Given the description of an element on the screen output the (x, y) to click on. 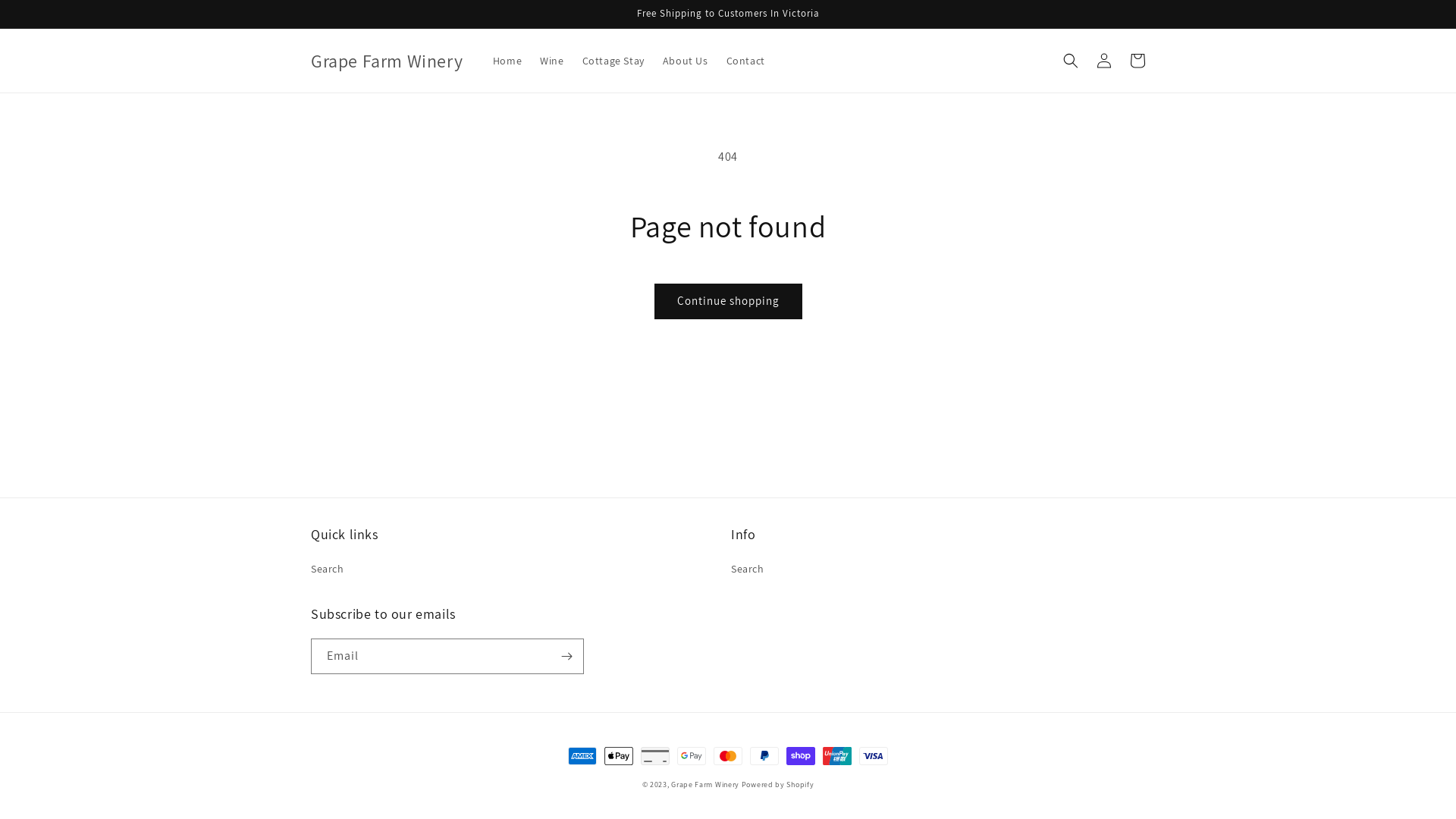
Order not valid Element type: text (1012, 29)
Home Element type: text (506, 60)
Grape Farm Winery Element type: text (385, 60)
Powered by Shopify Element type: text (777, 784)
Continue shopping Element type: text (727, 301)
Cottage Stay Element type: text (613, 60)
Log in Element type: text (1103, 60)
About Us Element type: text (685, 60)
Wine Element type: text (551, 60)
Contact Element type: text (745, 60)
Cart Element type: text (1137, 60)
Search Element type: text (327, 570)
Grape Farm Winery Element type: text (705, 784)
Search Element type: text (747, 570)
